Given the description of an element on the screen output the (x, y) to click on. 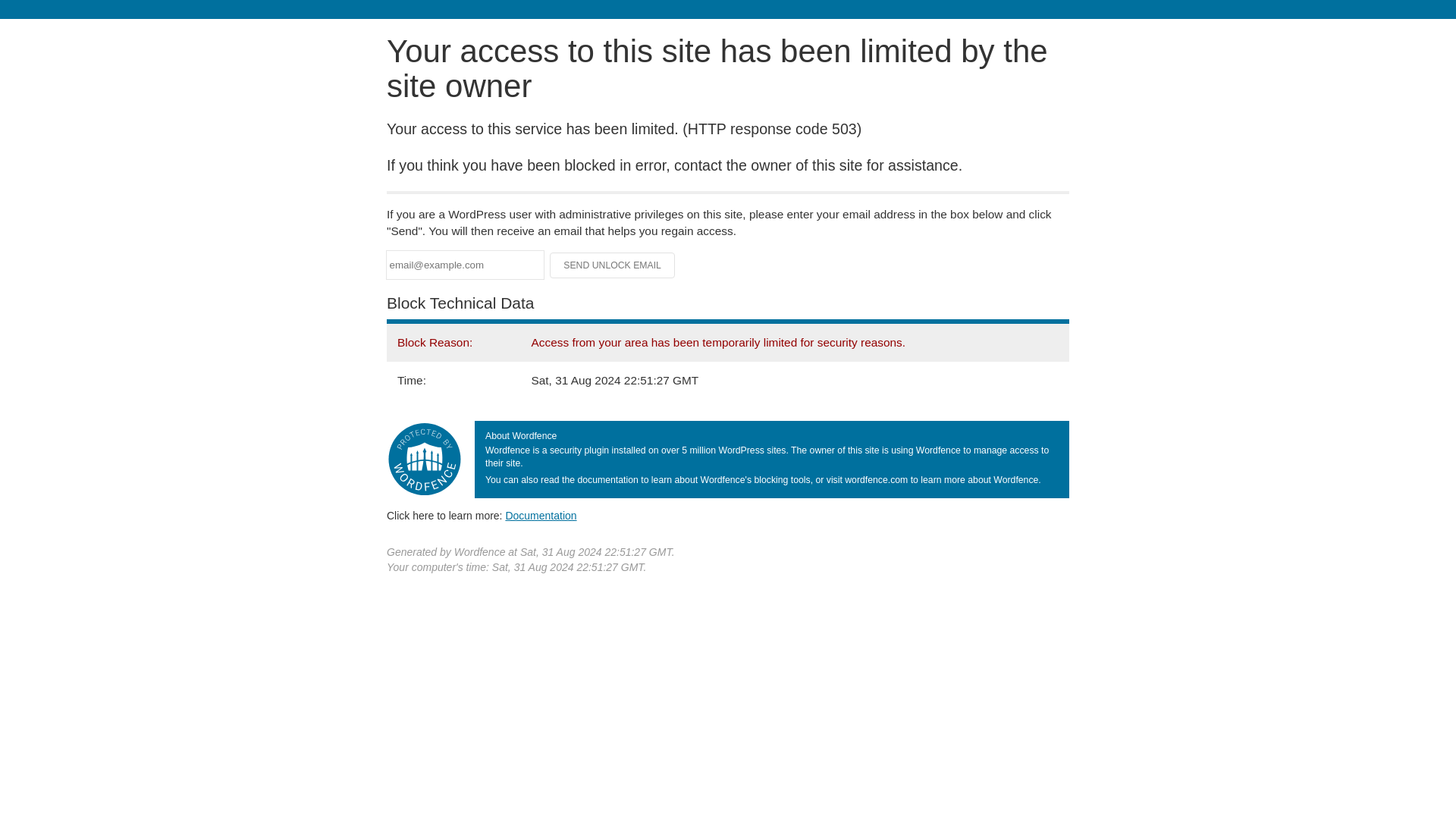
Send Unlock Email (612, 265)
Send Unlock Email (612, 265)
Documentation (540, 515)
